Given the description of an element on the screen output the (x, y) to click on. 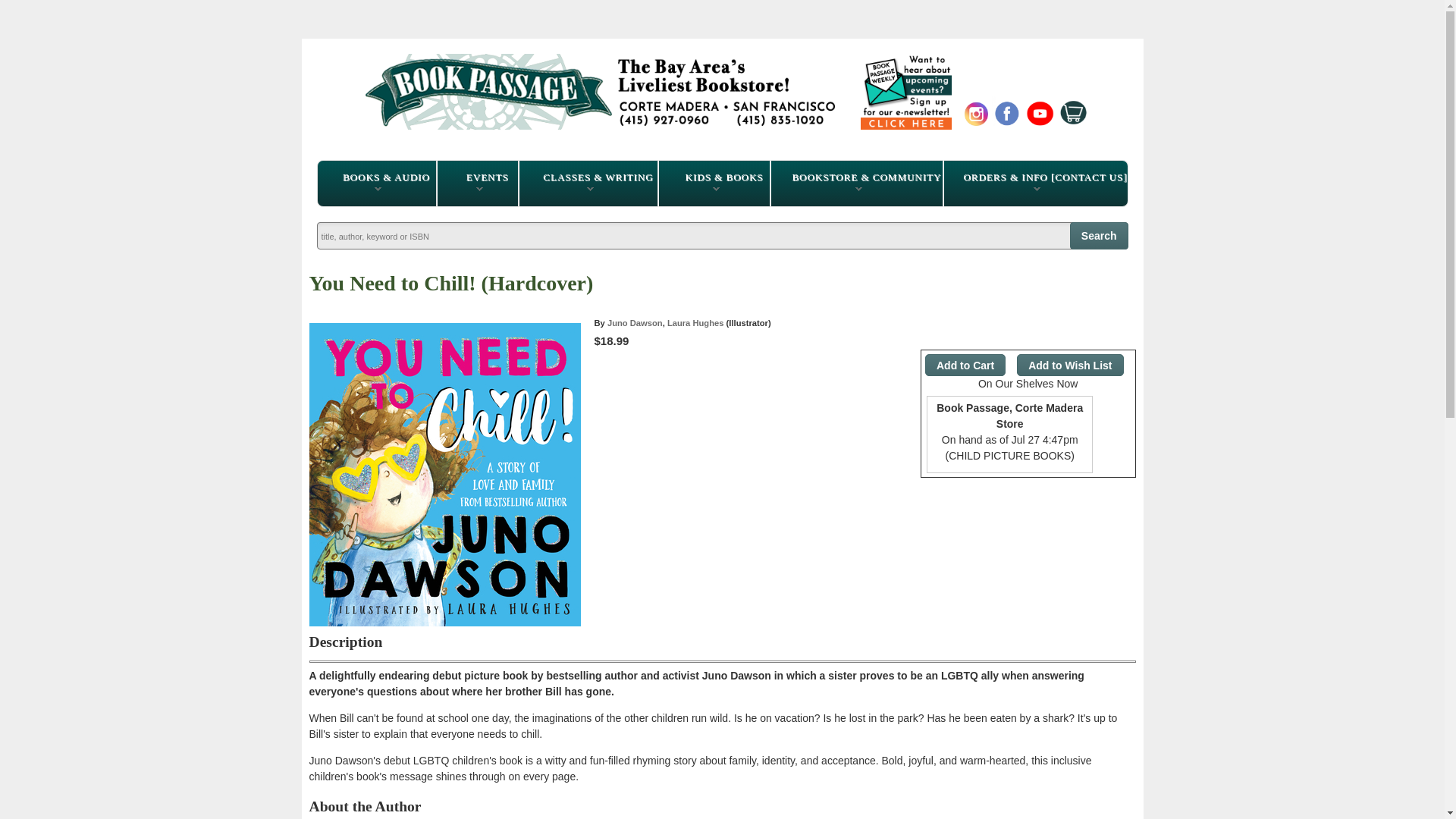
Search (1099, 235)
Add to Cart (965, 364)
